Given the description of an element on the screen output the (x, y) to click on. 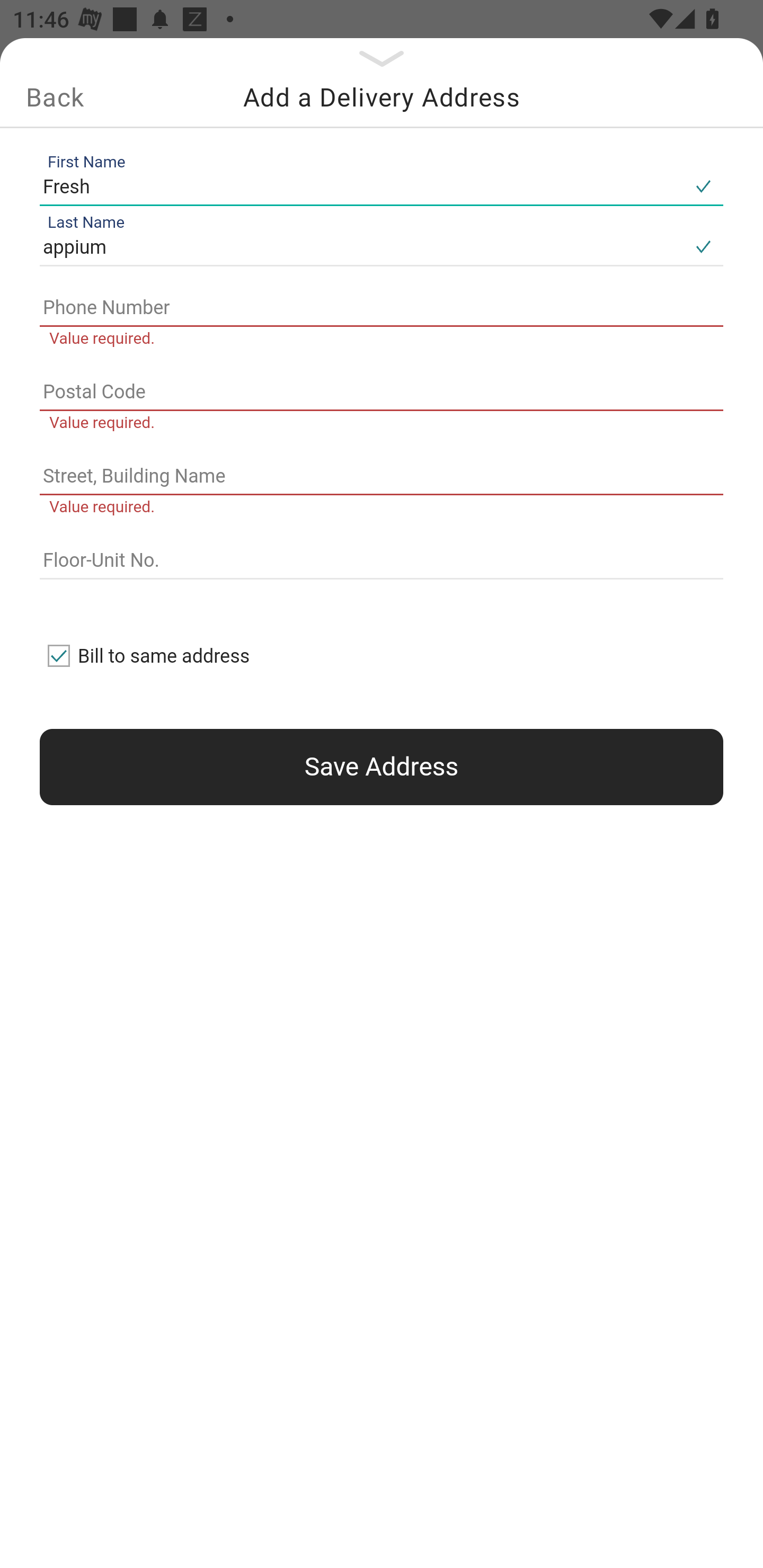
Back (54, 96)
Add a Delivery Address (381, 96)
Fresh (361, 186)
appium (361, 247)
Save Address (381, 767)
